Given the description of an element on the screen output the (x, y) to click on. 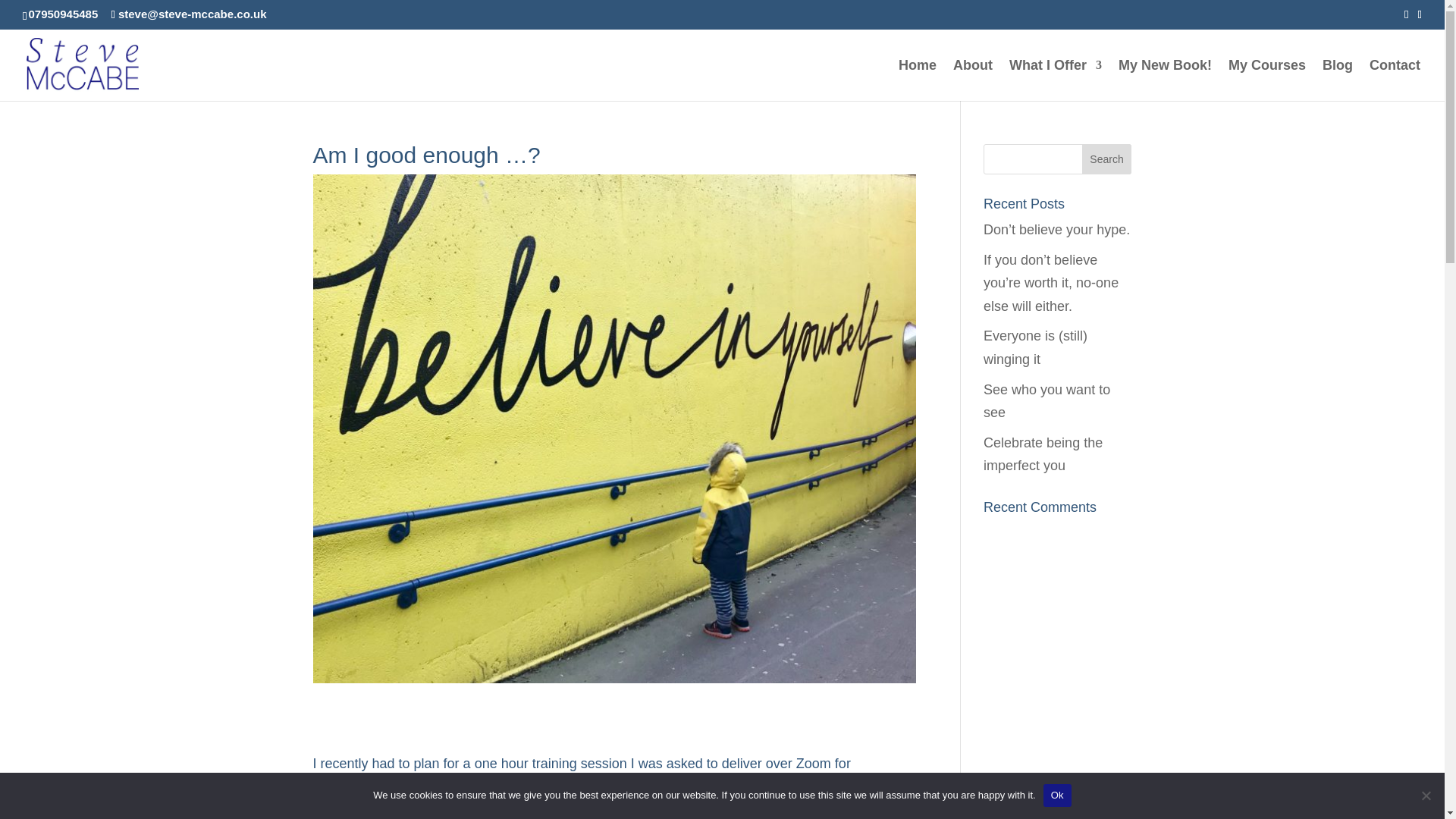
What I Offer (1055, 78)
Celebrate being the imperfect you (1043, 454)
My Courses (1267, 78)
Ok (1057, 794)
My New Book! (1164, 78)
Home (917, 78)
Search (1106, 159)
About (972, 78)
Search (1106, 159)
See who you want to see (1046, 401)
Contact (1395, 78)
No (1425, 795)
